Given the description of an element on the screen output the (x, y) to click on. 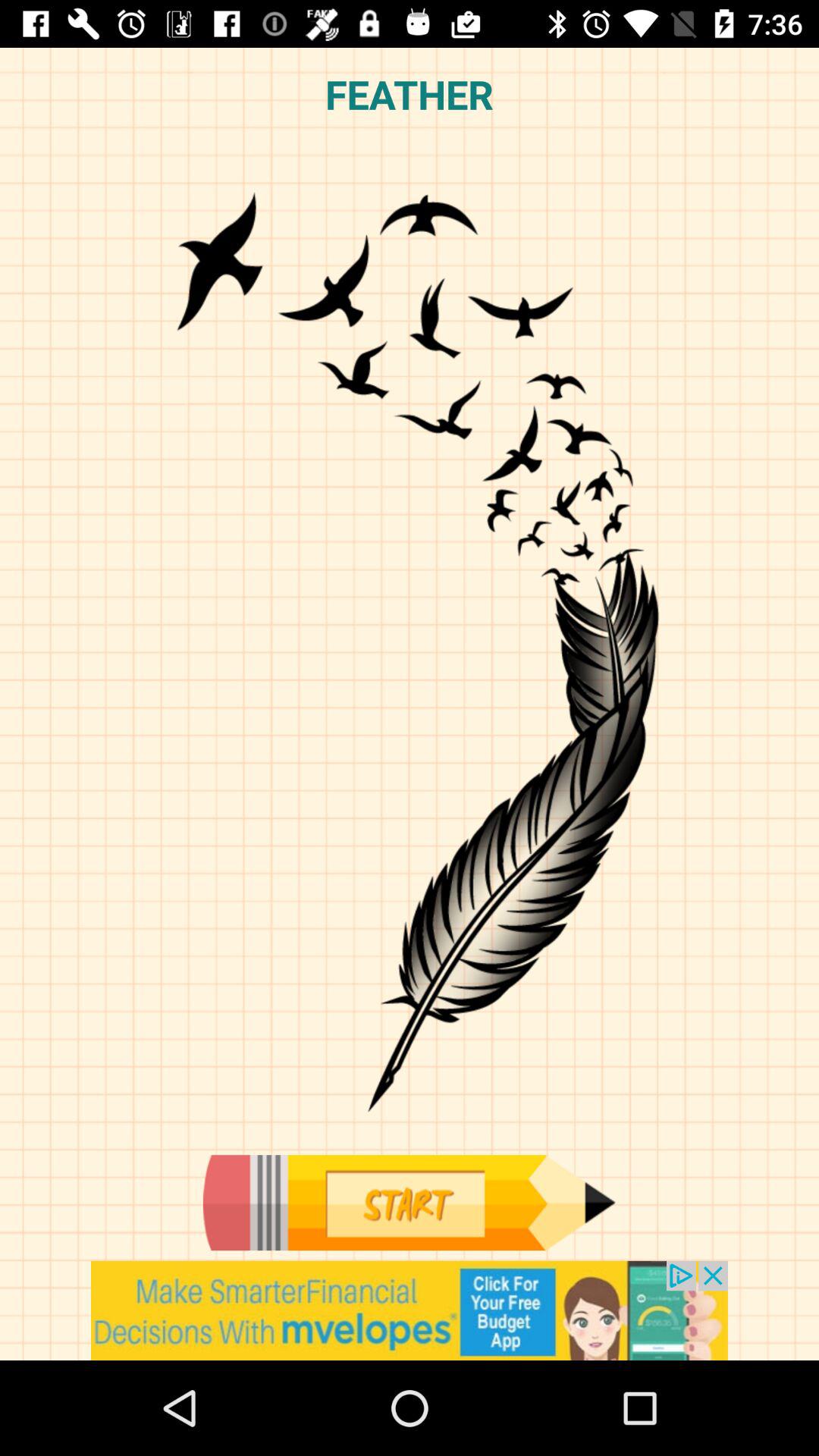
start drawing option (409, 1202)
